Given the description of an element on the screen output the (x, y) to click on. 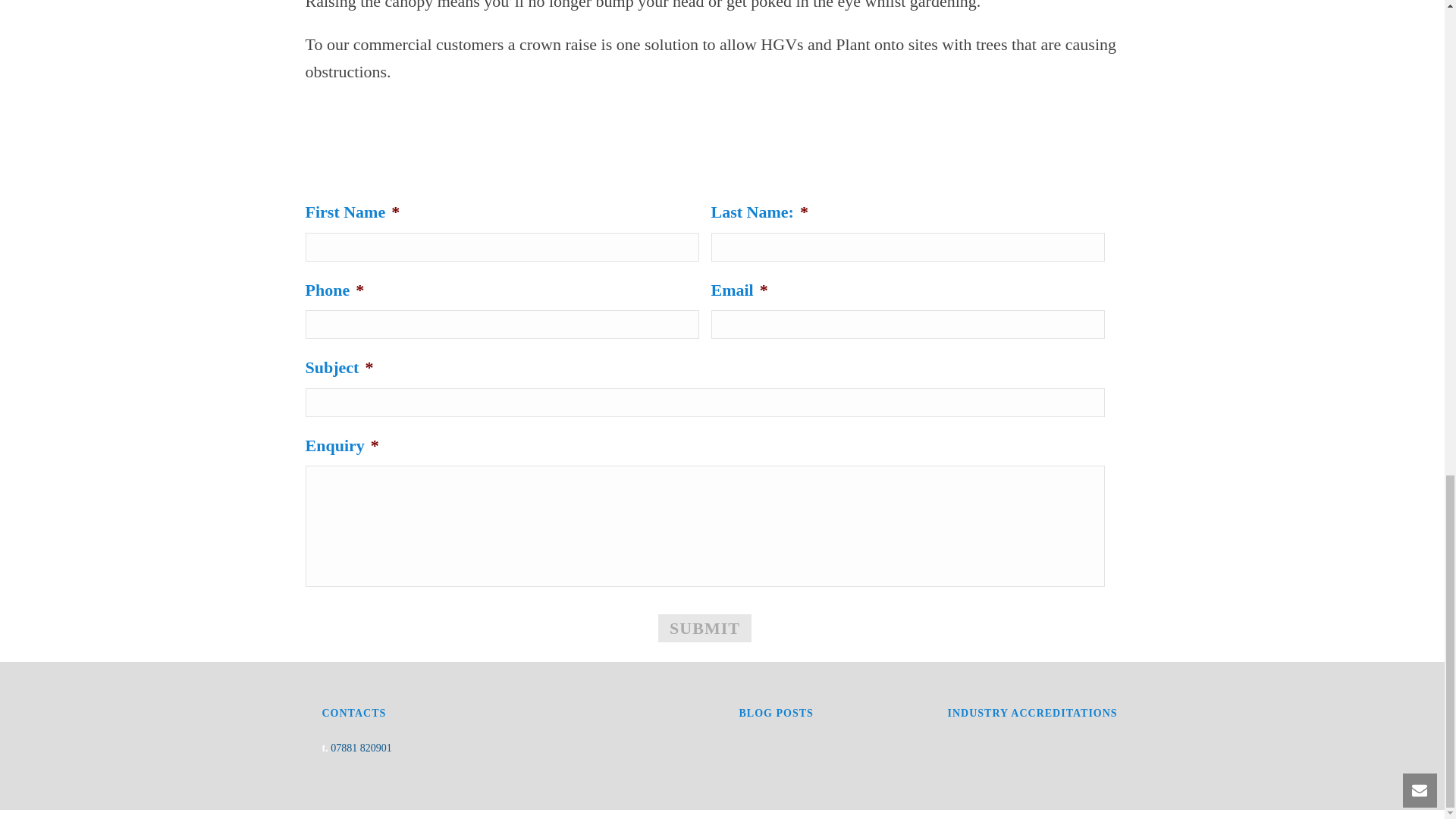
Submit (704, 628)
Submit (704, 628)
07881 820901 (360, 747)
